Given the description of an element on the screen output the (x, y) to click on. 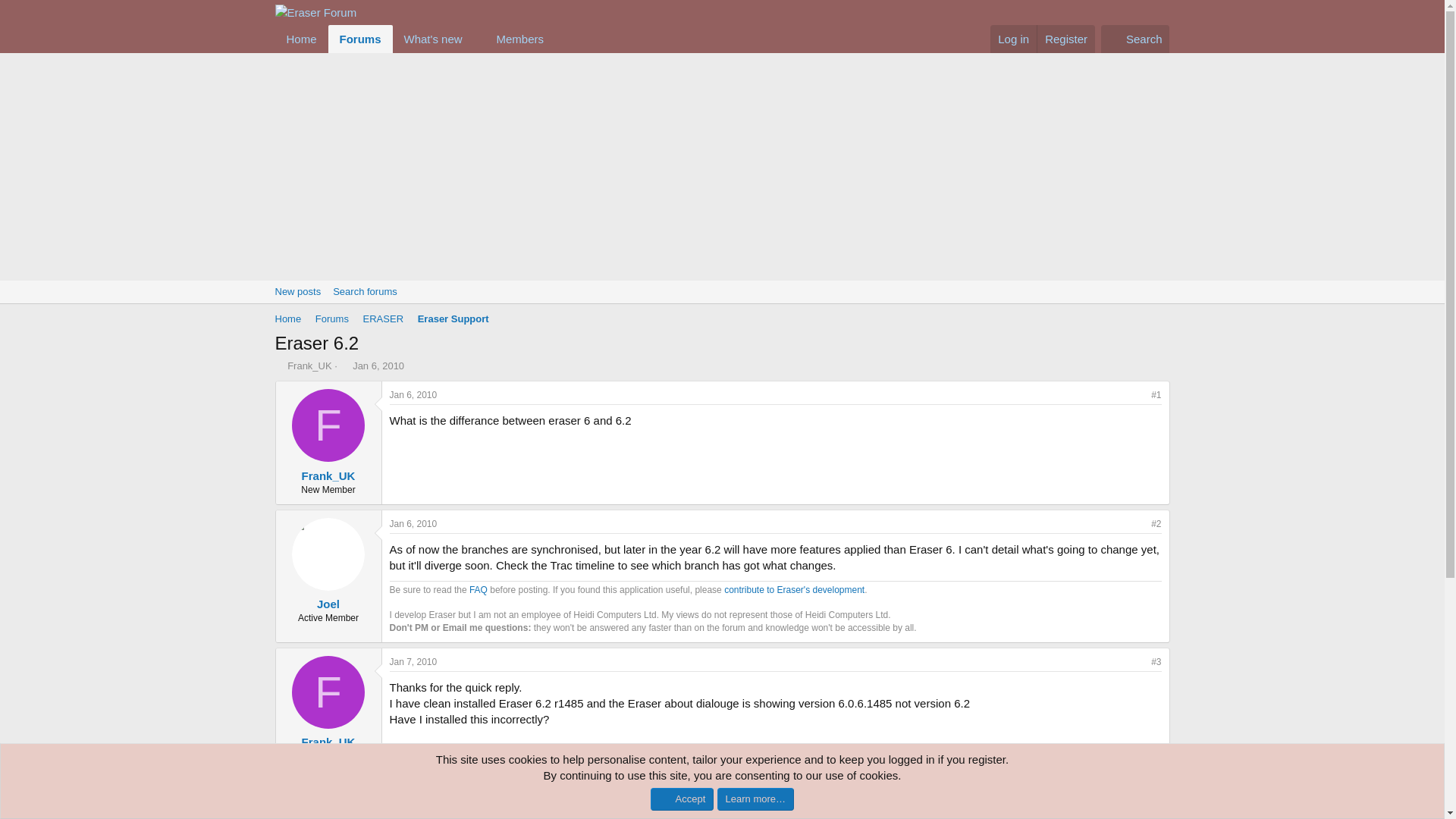
Thread starter (279, 366)
Search forums (364, 291)
Forums (720, 291)
Jan 6, 2010 (331, 319)
Eraser Support (378, 365)
Log in (453, 319)
Members (1013, 39)
Start date (419, 39)
